Given the description of an element on the screen output the (x, y) to click on. 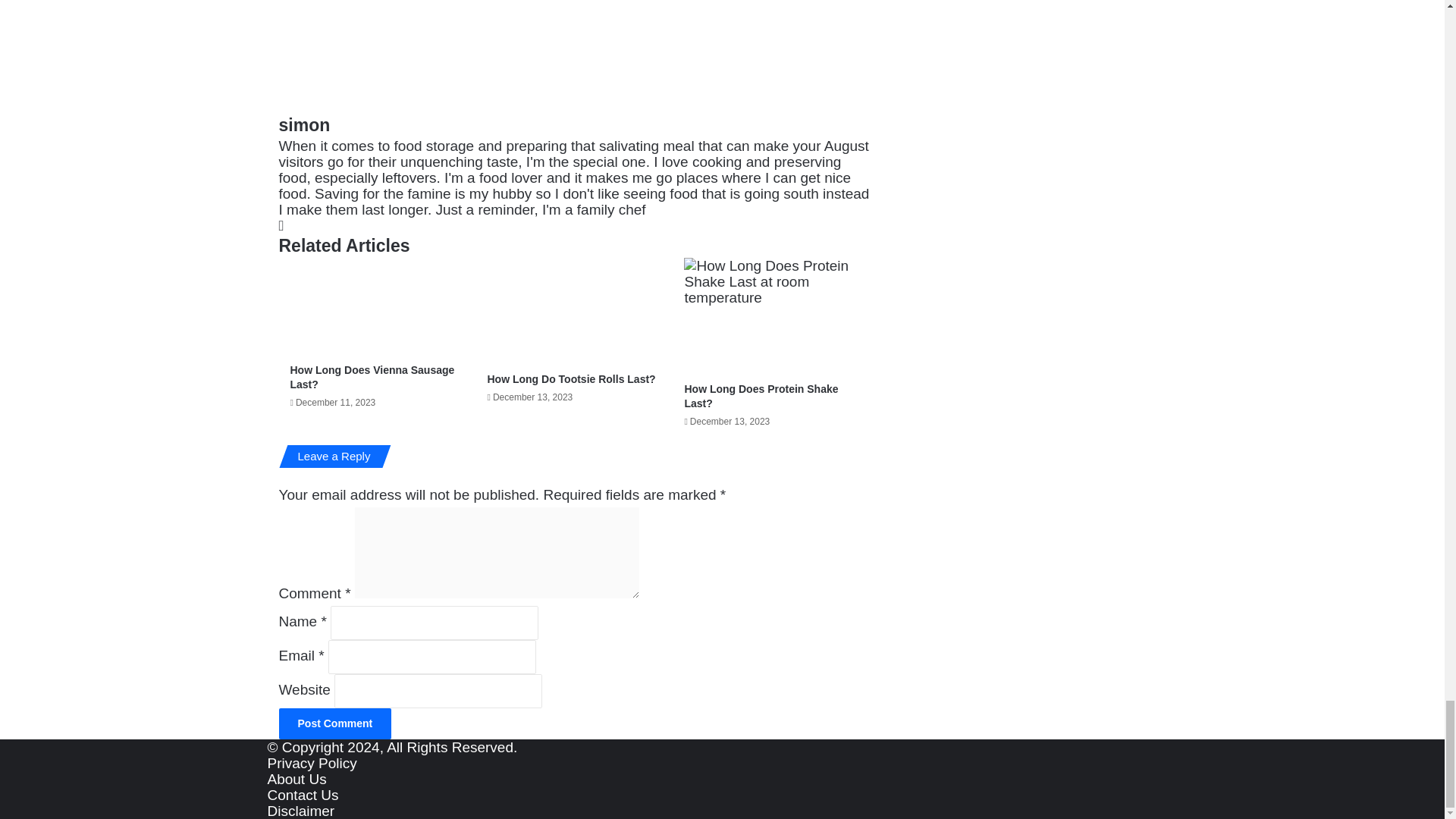
simon (304, 125)
Post Comment (335, 723)
Website (281, 225)
How Long Do Tootsie Rolls Last? (570, 378)
How Long Does Vienna Sausage Last? (371, 376)
